Given the description of an element on the screen output the (x, y) to click on. 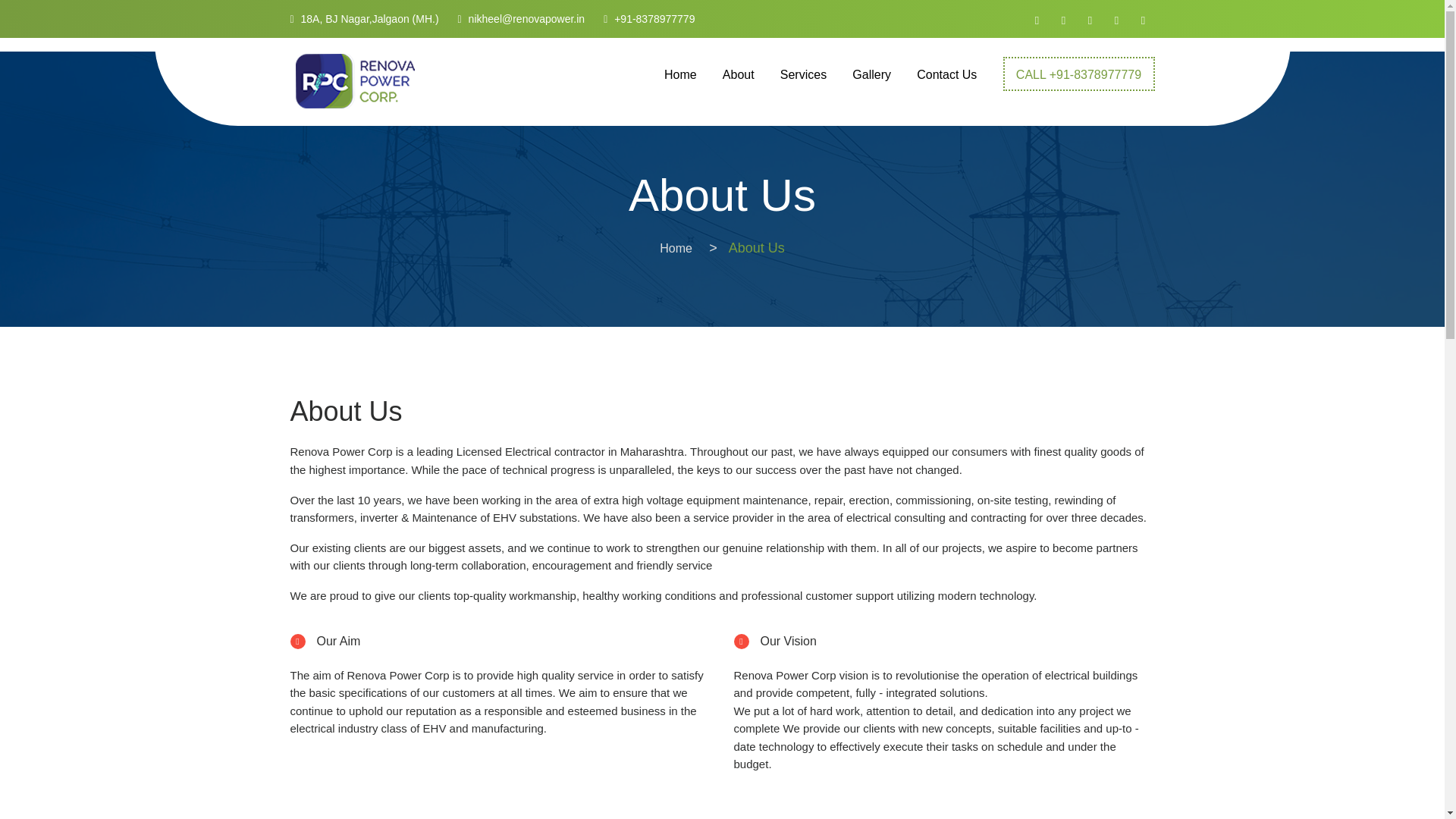
Home (676, 247)
